Given the description of an element on the screen output the (x, y) to click on. 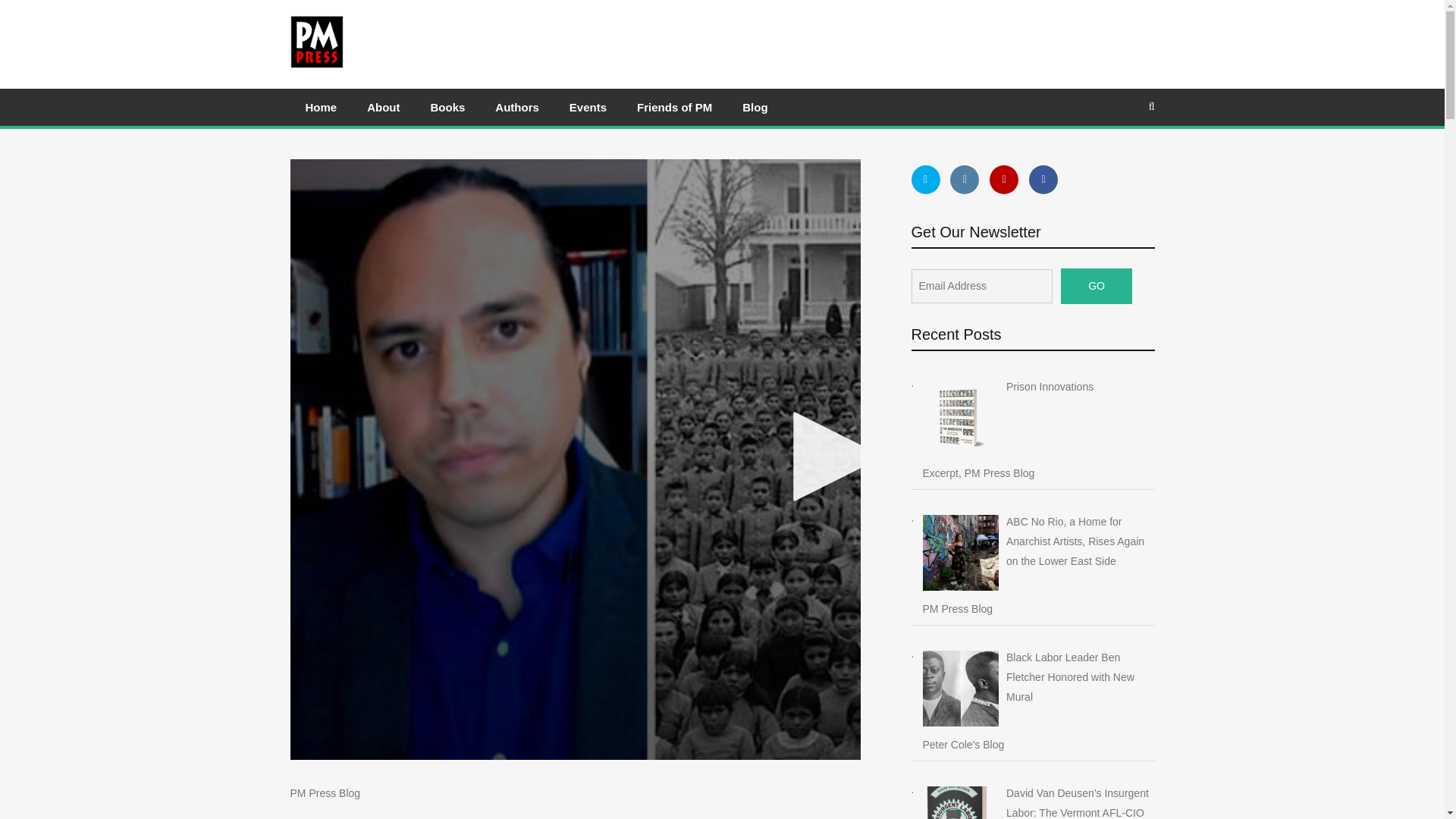
PM Press Blog (324, 793)
Authors (517, 107)
Friends of PM (673, 107)
Events (587, 107)
GO (1096, 285)
Blog (754, 107)
Home (320, 107)
About (383, 107)
Books (447, 107)
